Given the description of an element on the screen output the (x, y) to click on. 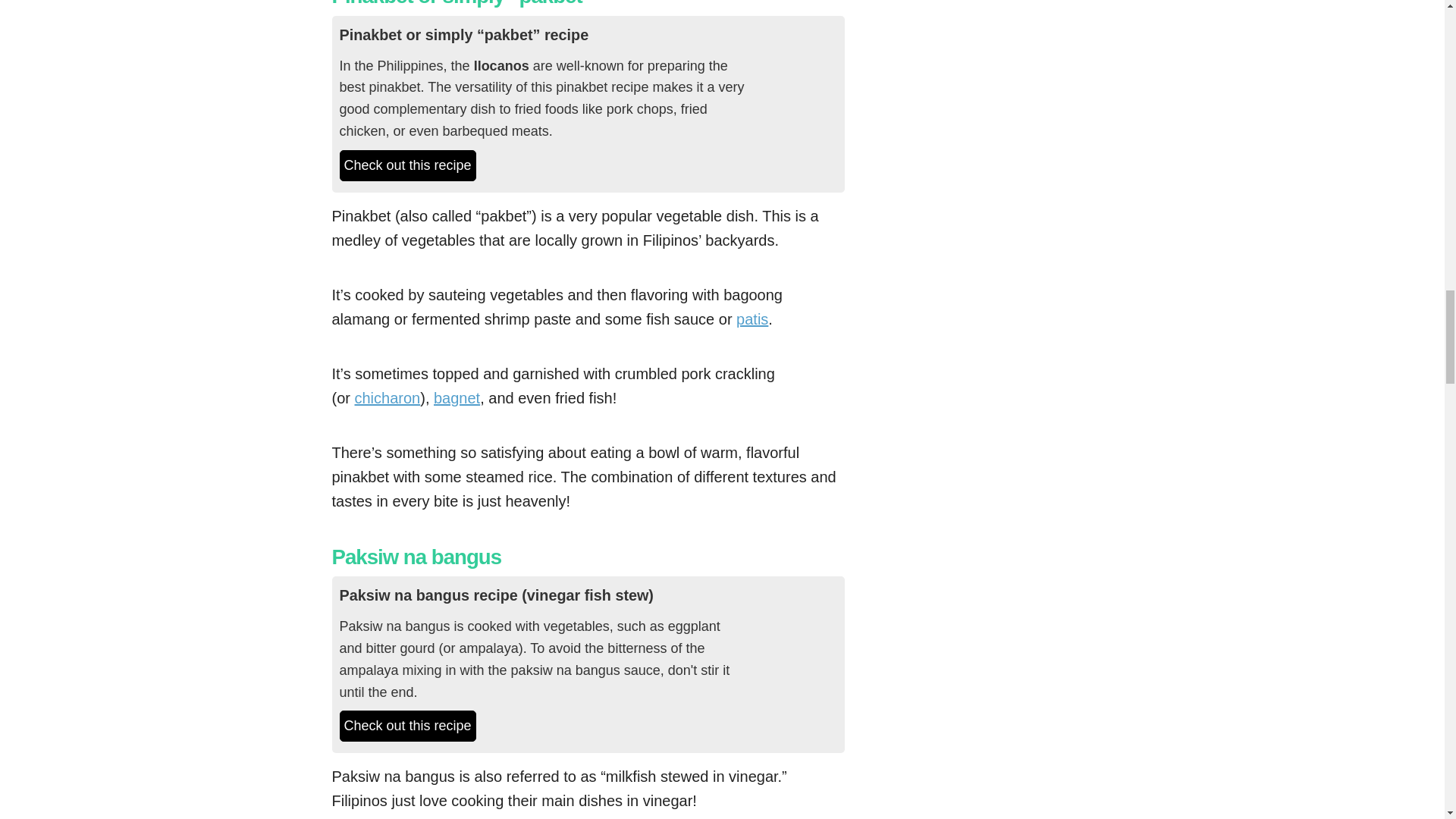
chicharon (387, 397)
Check out this recipe (407, 164)
Check out this recipe (407, 726)
bagnet (456, 397)
patis (752, 319)
